Given the description of an element on the screen output the (x, y) to click on. 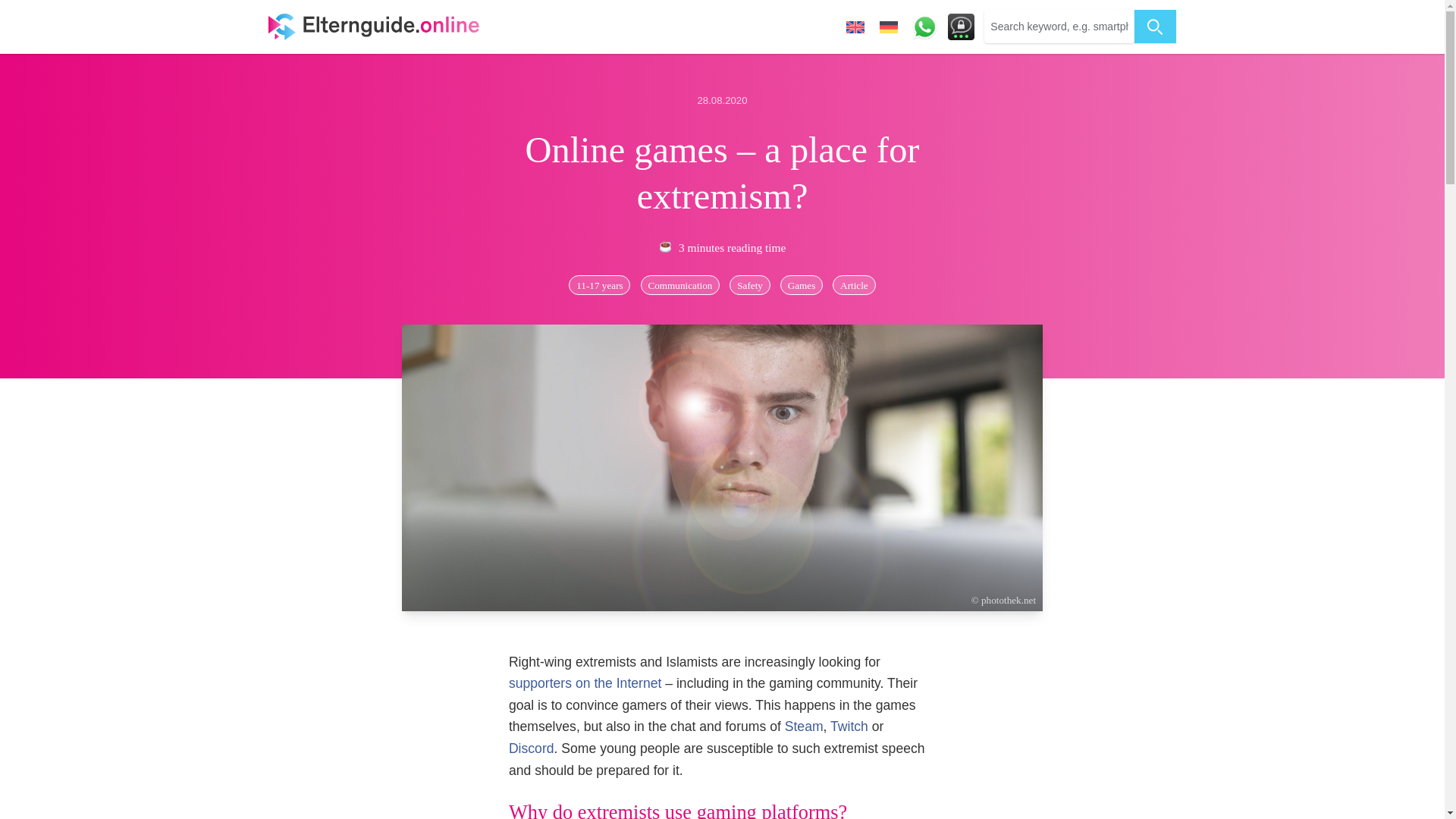
Steam (804, 726)
Contact us on Whatsapp (924, 26)
Discord (531, 748)
Contact us at Threema (960, 26)
supporters on the Internet (584, 683)
Twitch (848, 726)
